Given the description of an element on the screen output the (x, y) to click on. 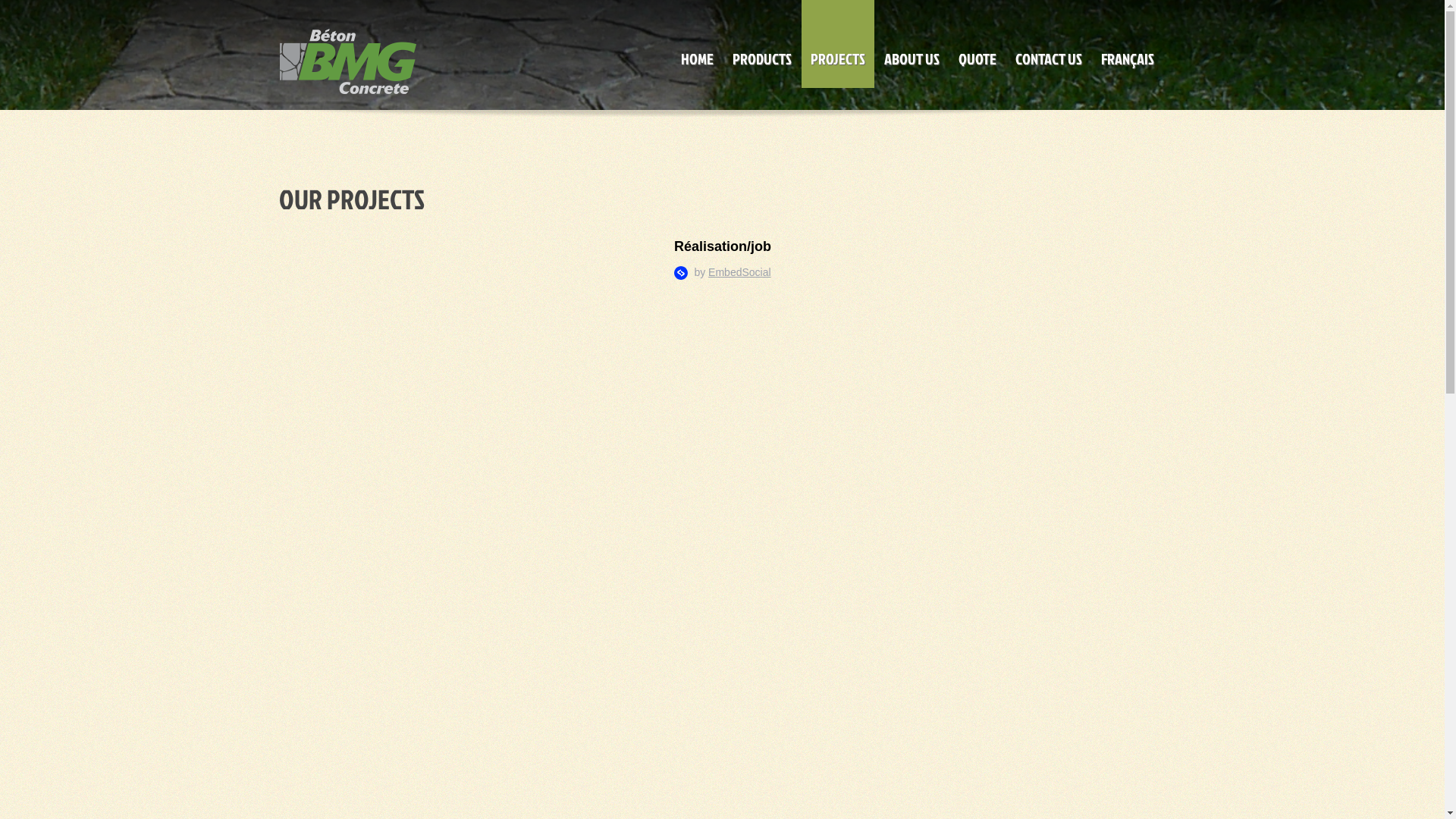
PRODUCTS Element type: text (761, 43)
CONTACT US Element type: text (1047, 43)
QUOTE Element type: text (977, 43)
HOME Element type: text (696, 43)
PROJECTS Element type: text (836, 43)
ABOUT US Element type: text (911, 43)
